Given the description of an element on the screen output the (x, y) to click on. 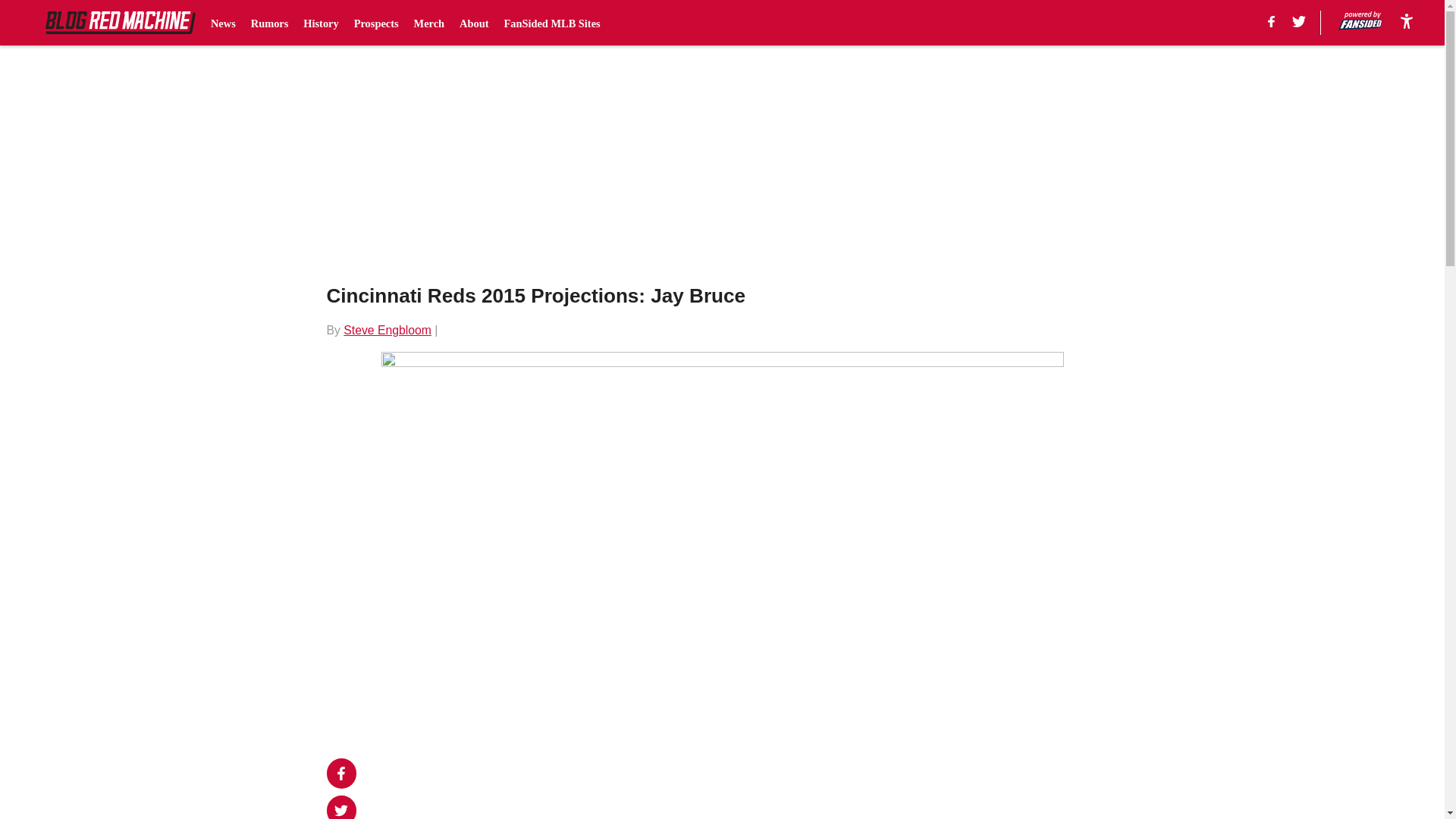
About (473, 23)
Prospects (375, 23)
History (319, 23)
Merch (429, 23)
Steve Engbloom (386, 329)
Rumors (269, 23)
News (223, 23)
FanSided MLB Sites (551, 23)
